Given the description of an element on the screen output the (x, y) to click on. 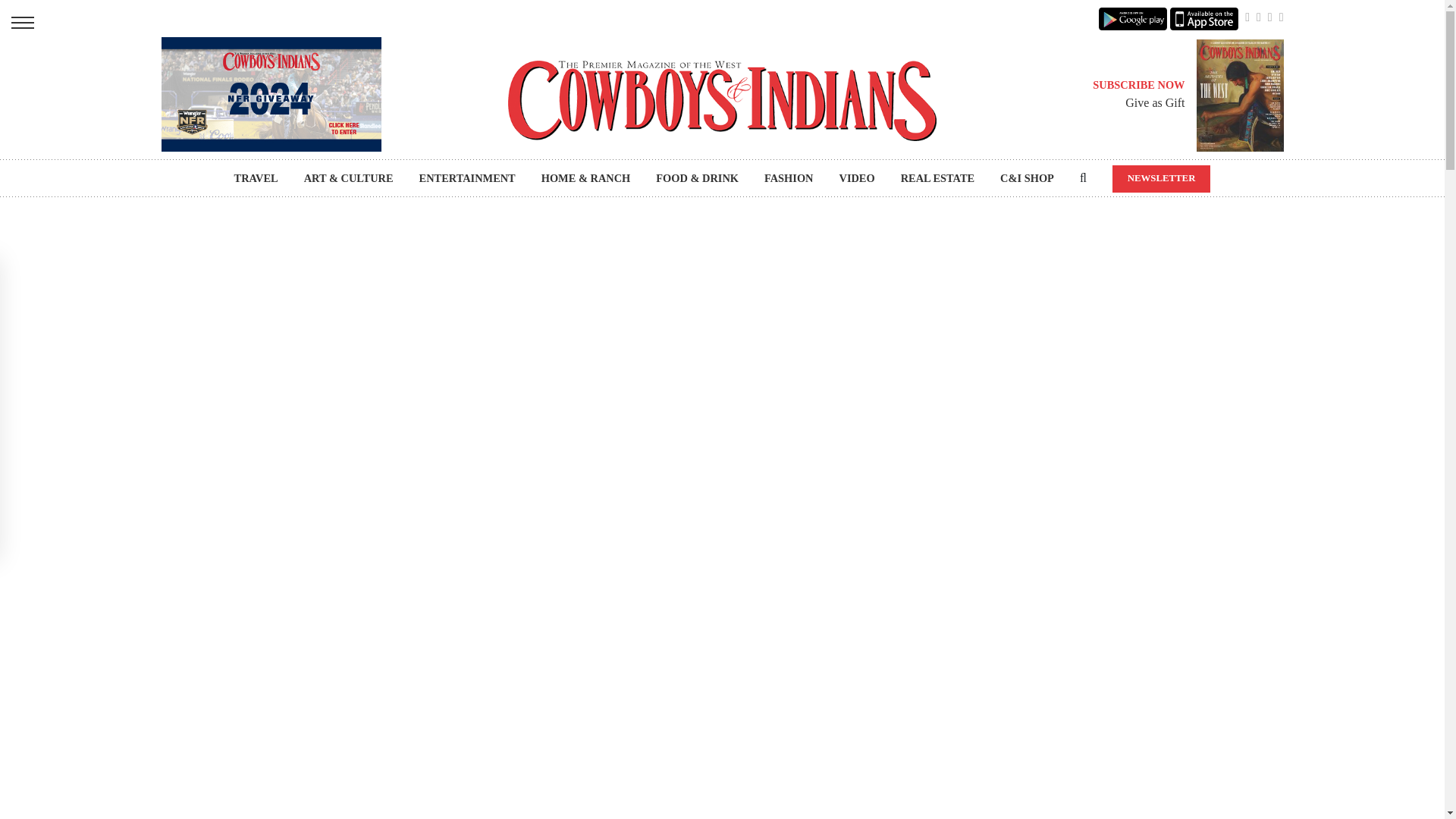
Cowboys and Indians Magazine (722, 100)
